Given the description of an element on the screen output the (x, y) to click on. 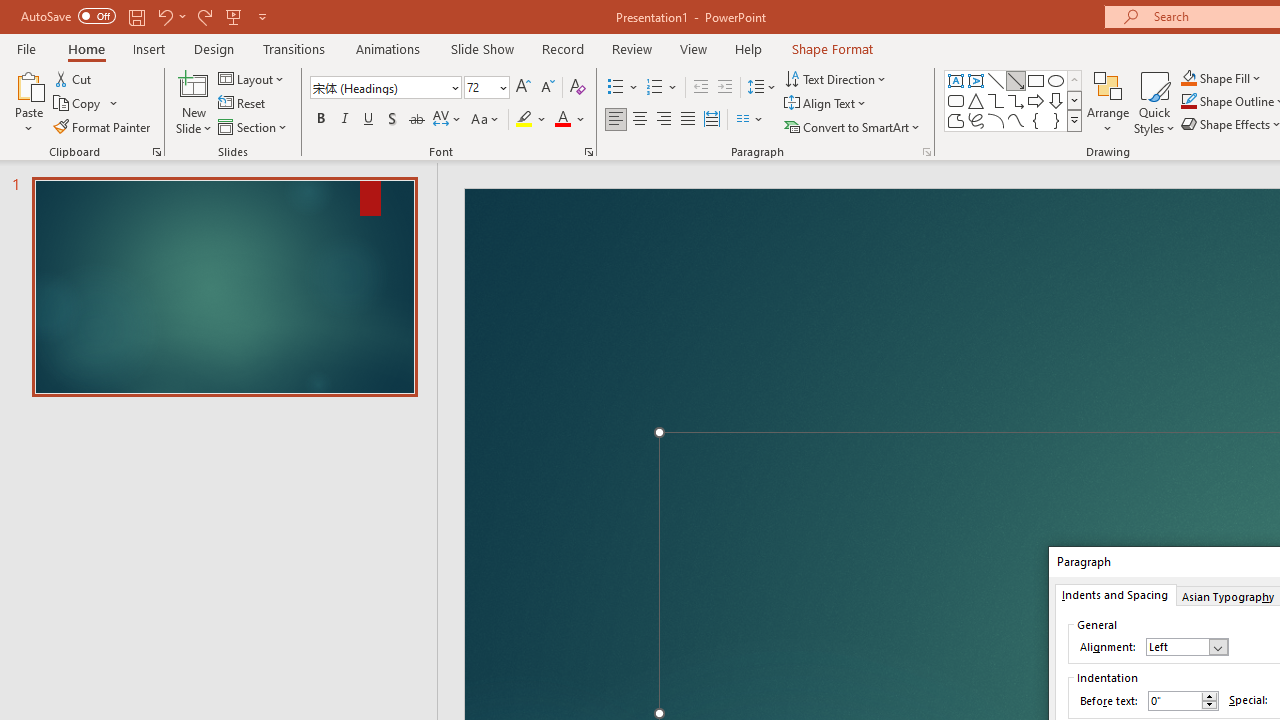
Cut (73, 78)
Shape Fill Orange, Accent 2 (1188, 78)
Text Direction (836, 78)
Curve (1016, 120)
Line Spacing (762, 87)
Alignment (1186, 646)
Shape Outline Blue, Accent 1 (1188, 101)
